Given the description of an element on the screen output the (x, y) to click on. 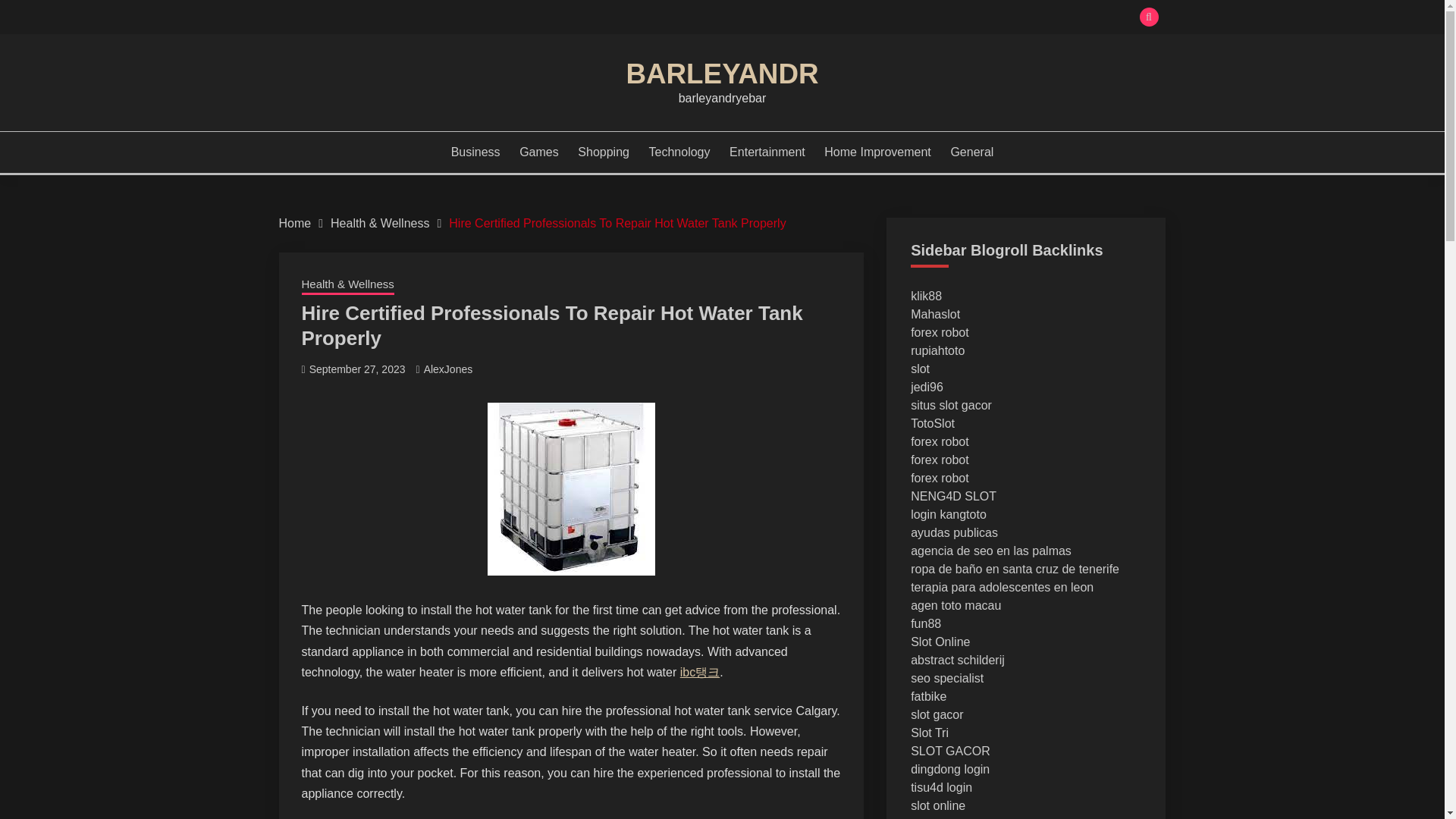
AlexJones (448, 369)
klik88 (926, 295)
Entertainment (767, 152)
Search (832, 18)
BARLEYANDR (722, 73)
Home (295, 223)
Shopping (603, 152)
Technology (679, 152)
Home Improvement (877, 152)
September 27, 2023 (357, 369)
